Given the description of an element on the screen output the (x, y) to click on. 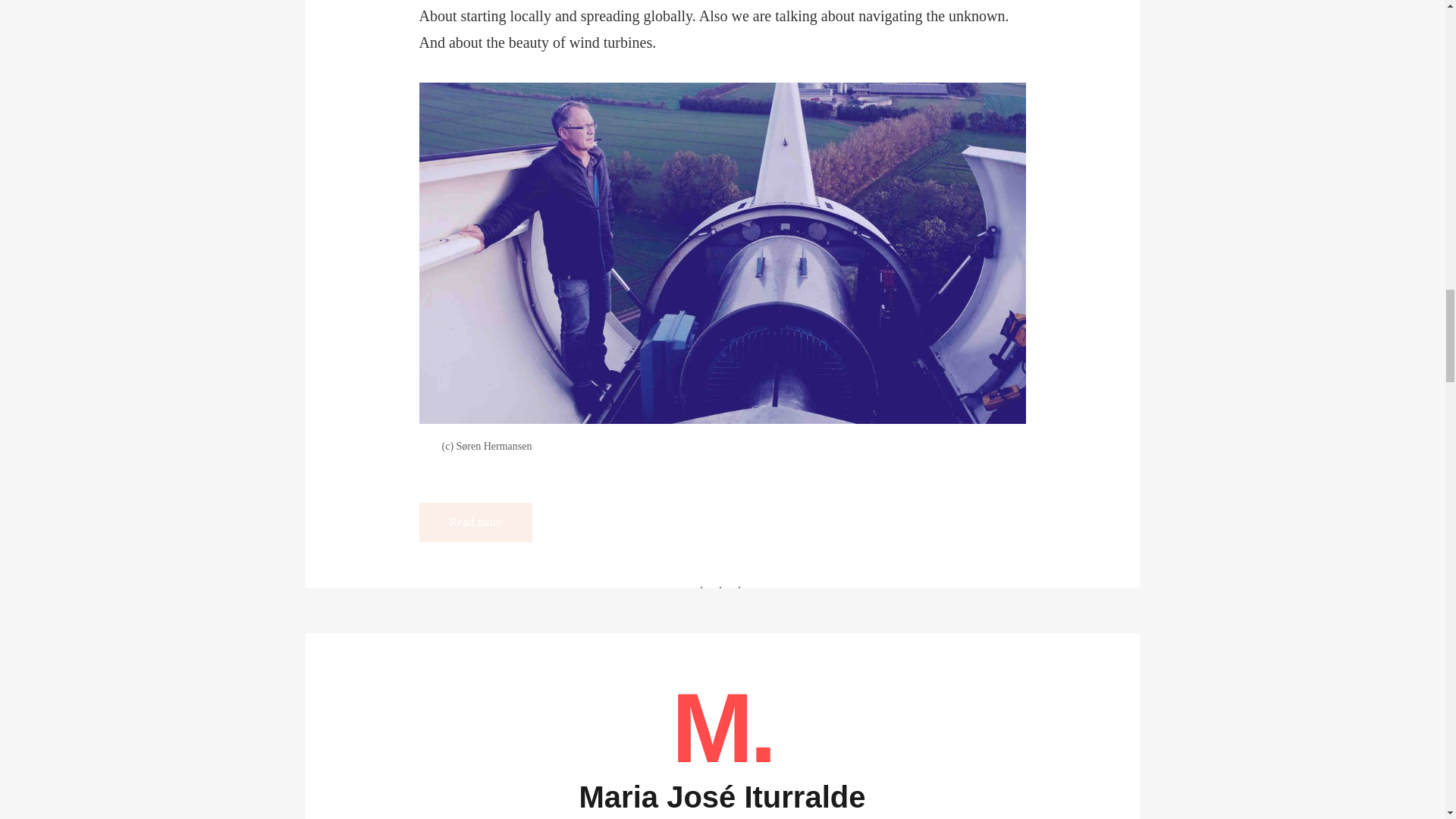
Read more (475, 522)
